Given the description of an element on the screen output the (x, y) to click on. 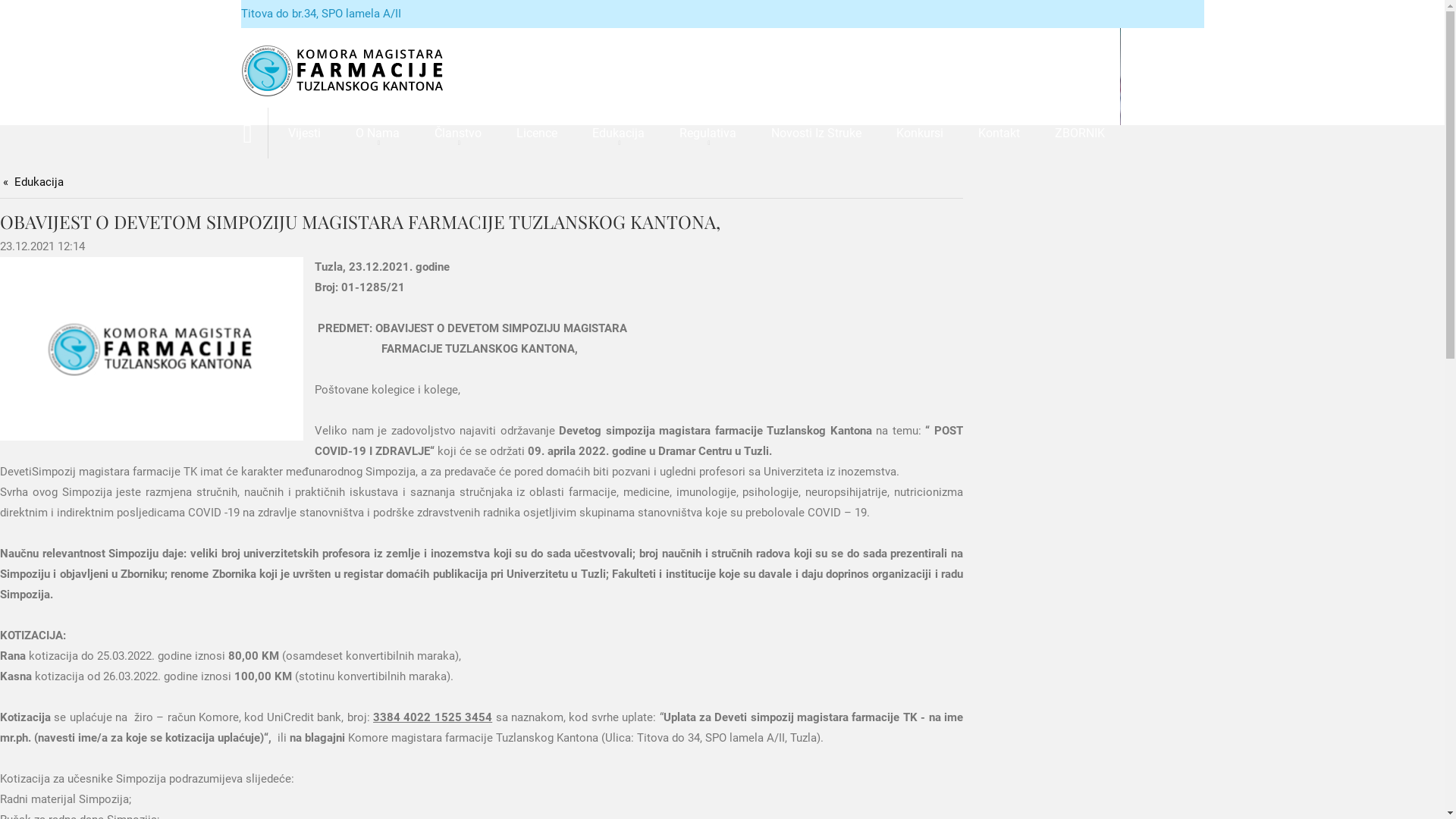
Vijesti Element type: text (304, 132)
Kontakt Element type: text (999, 132)
Konkursi Element type: text (919, 132)
Edukacija Element type: text (33, 182)
Edukacija Element type: text (618, 132)
Novosti Iz Struke Element type: text (816, 132)
Licence Element type: text (536, 132)
Regulativa Element type: text (707, 132)
O Nama Element type: text (377, 132)
ZBORNIK Element type: text (1079, 132)
